Given the description of an element on the screen output the (x, y) to click on. 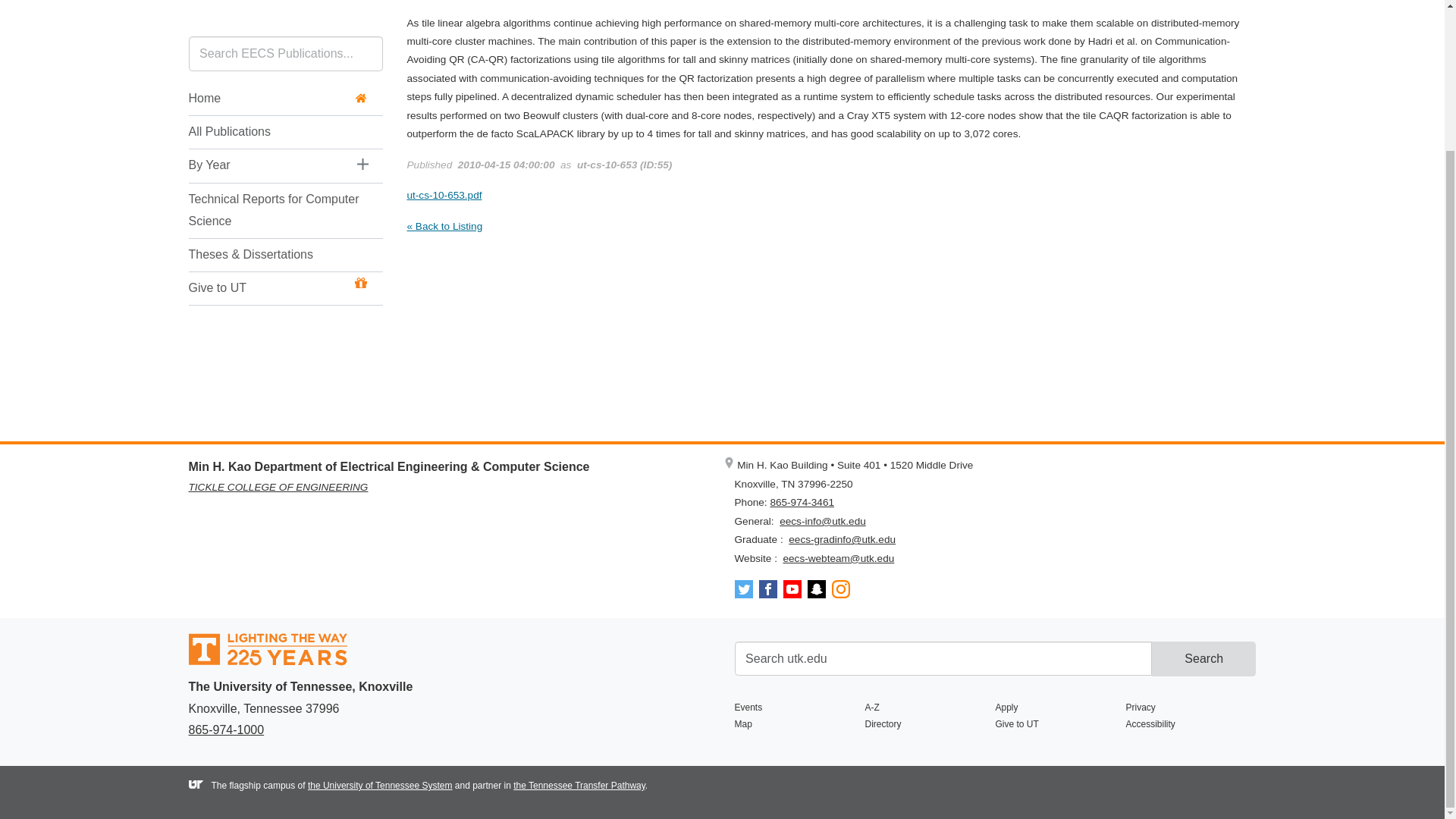
Search utk.edu (942, 658)
Search (1203, 658)
Submit (1203, 658)
search (942, 658)
By Year (265, 48)
Toggle Sub Menu (362, 49)
All Publications (276, 15)
